Given the description of an element on the screen output the (x, y) to click on. 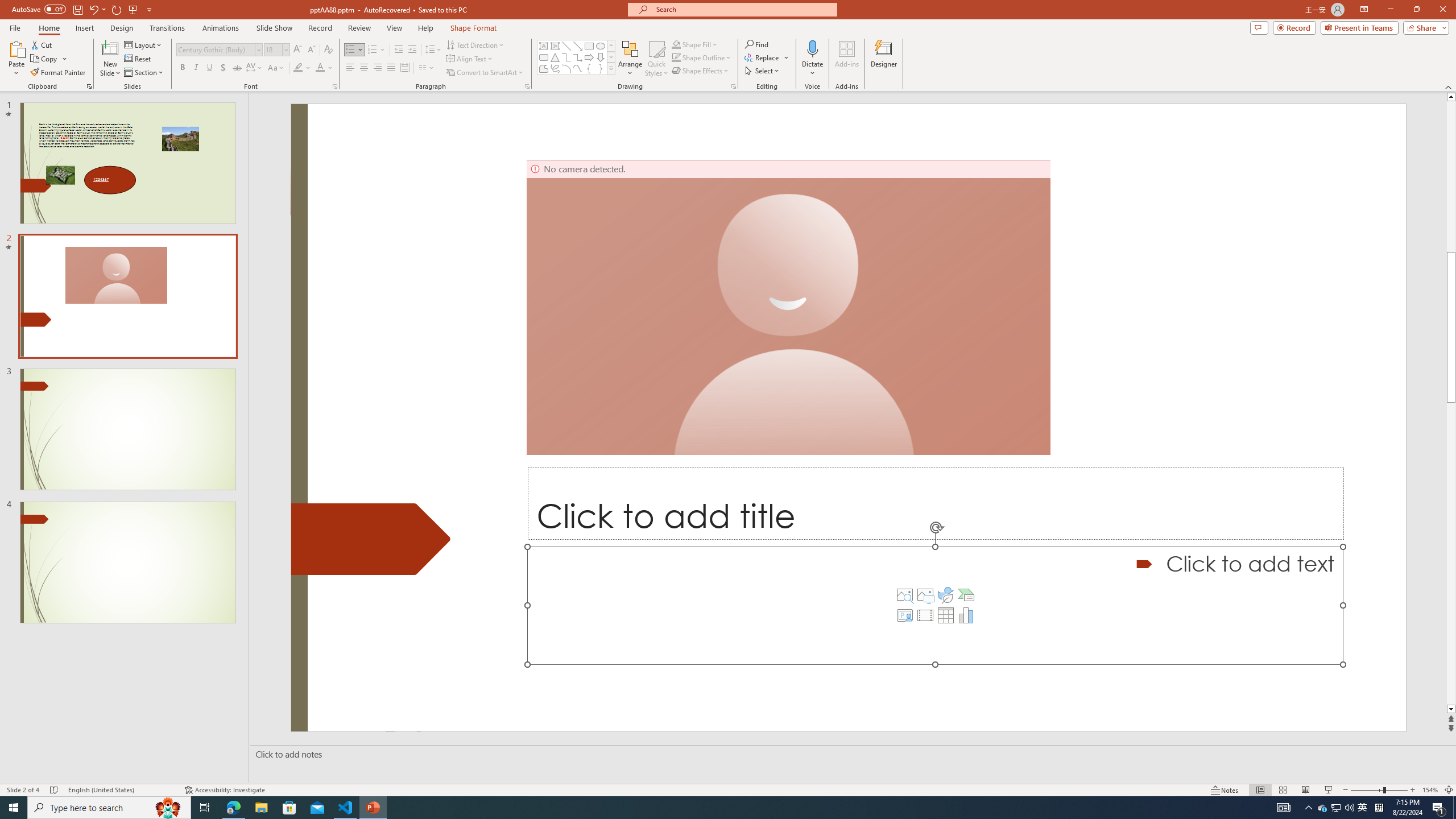
Close up of an olive branch on a sunset (935, 605)
Moderate Frame, White (758, 56)
Picture Border Teal, Accent 1 (1045, 44)
Double Frame, Black (471, 56)
